Given the description of an element on the screen output the (x, y) to click on. 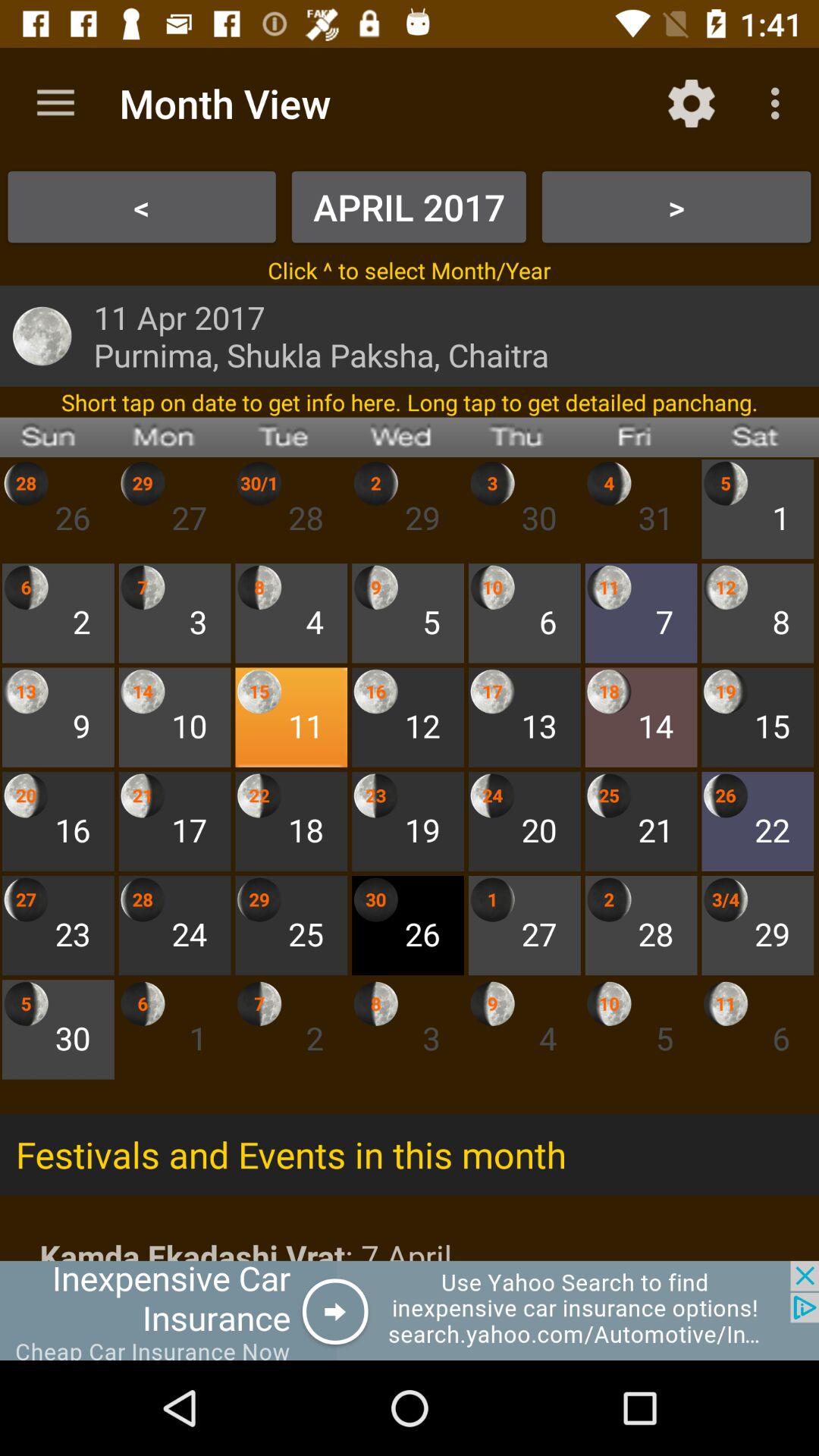
view advertisement (409, 1310)
